Given the description of an element on the screen output the (x, y) to click on. 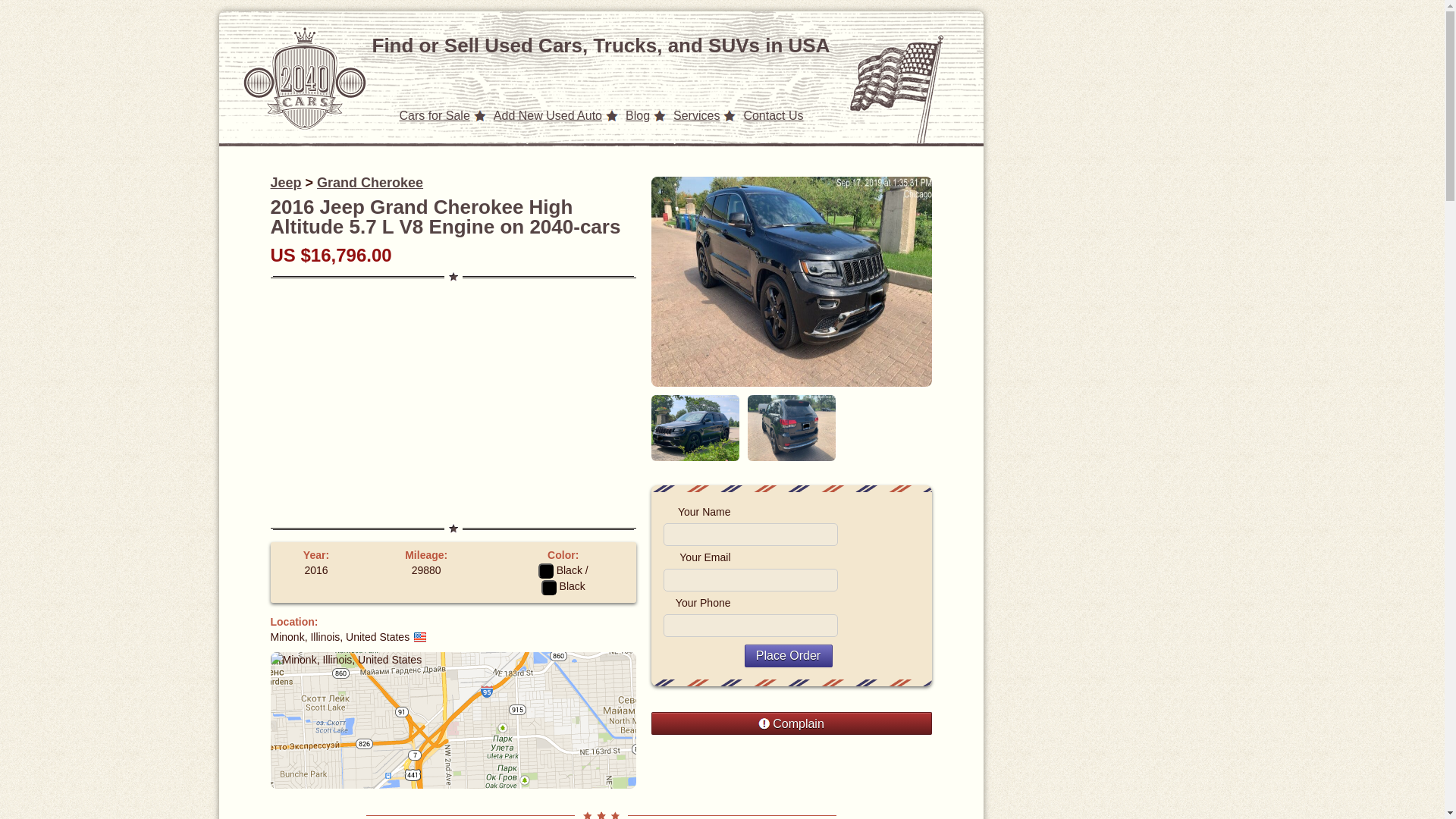
Complain (790, 722)
Exterior Color (560, 570)
Contact Us (772, 115)
Cars for Sale (433, 115)
Services (695, 115)
Blog (637, 115)
Grand Cherokee (370, 182)
Advertisement (453, 402)
Interior Color (563, 585)
Jeep (285, 182)
Place Order (788, 655)
Add New Used Auto (547, 115)
